Given the description of an element on the screen output the (x, y) to click on. 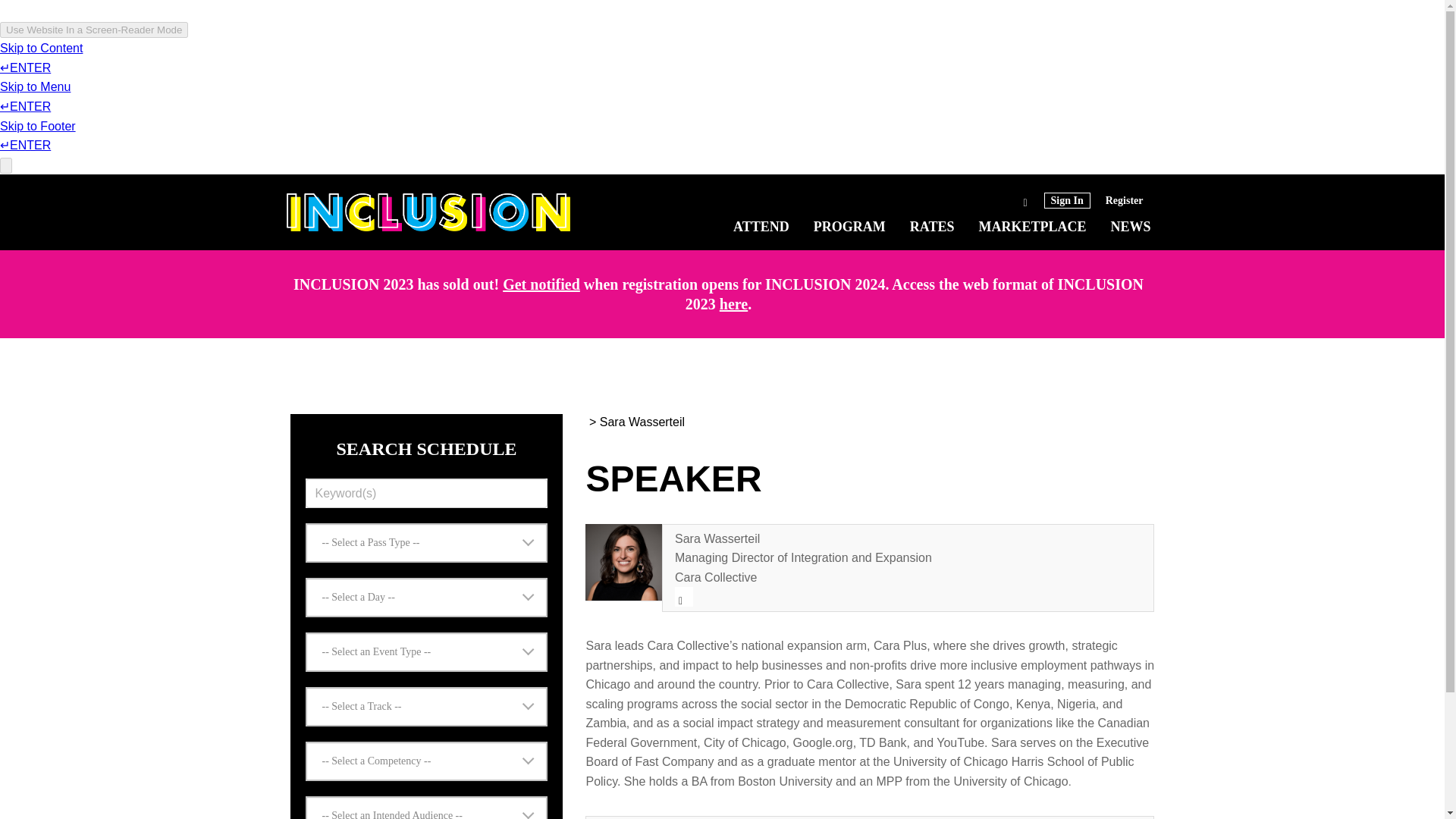
ATTEND (761, 226)
Get notified (540, 284)
Home (428, 212)
NEWS (1129, 226)
RATES (932, 226)
Sign In (1066, 200)
MARKETPLACE (1032, 226)
here (733, 303)
Register (1124, 199)
PROGRAM (849, 226)
